Given the description of an element on the screen output the (x, y) to click on. 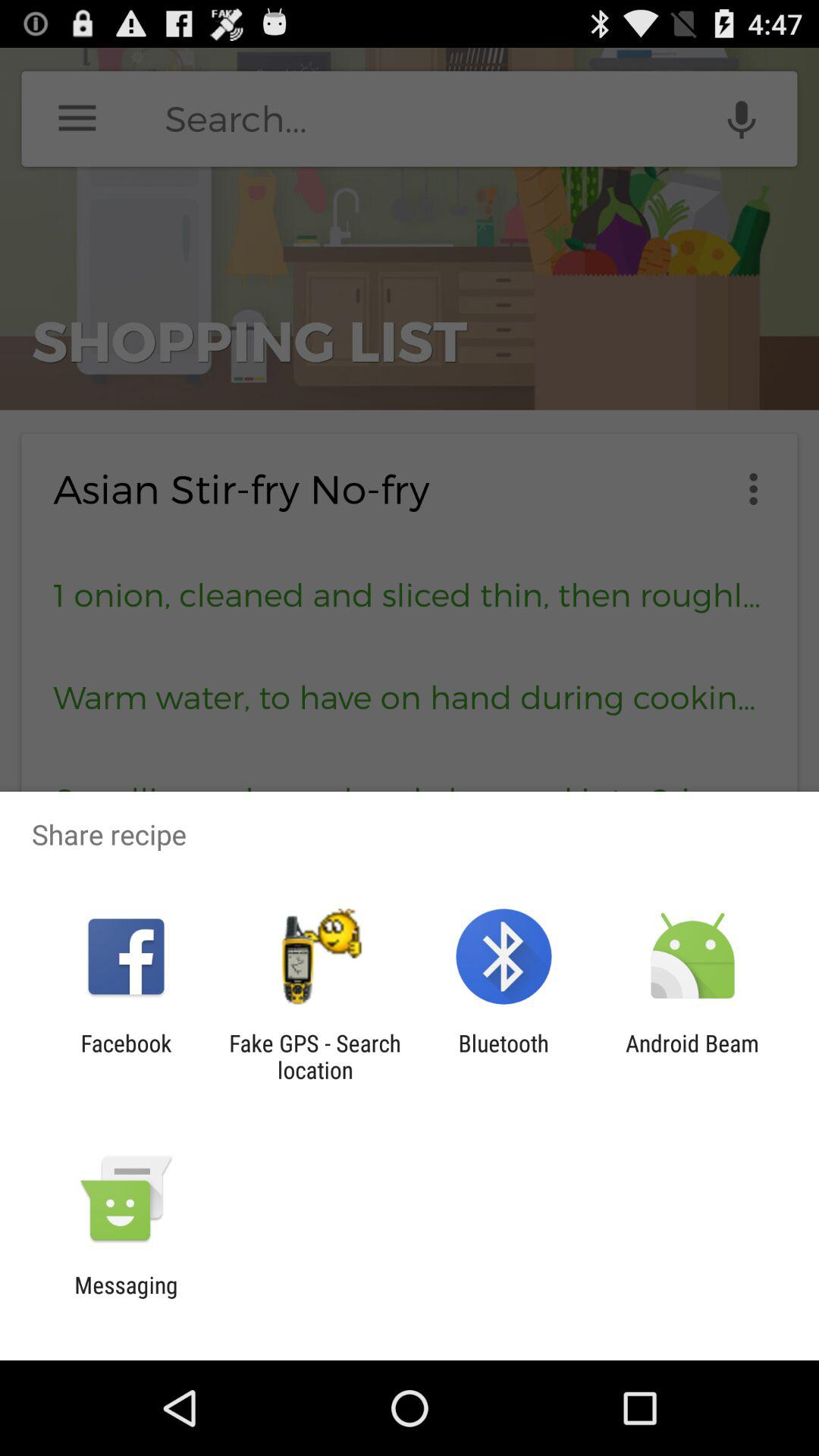
select bluetooth item (503, 1056)
